Given the description of an element on the screen output the (x, y) to click on. 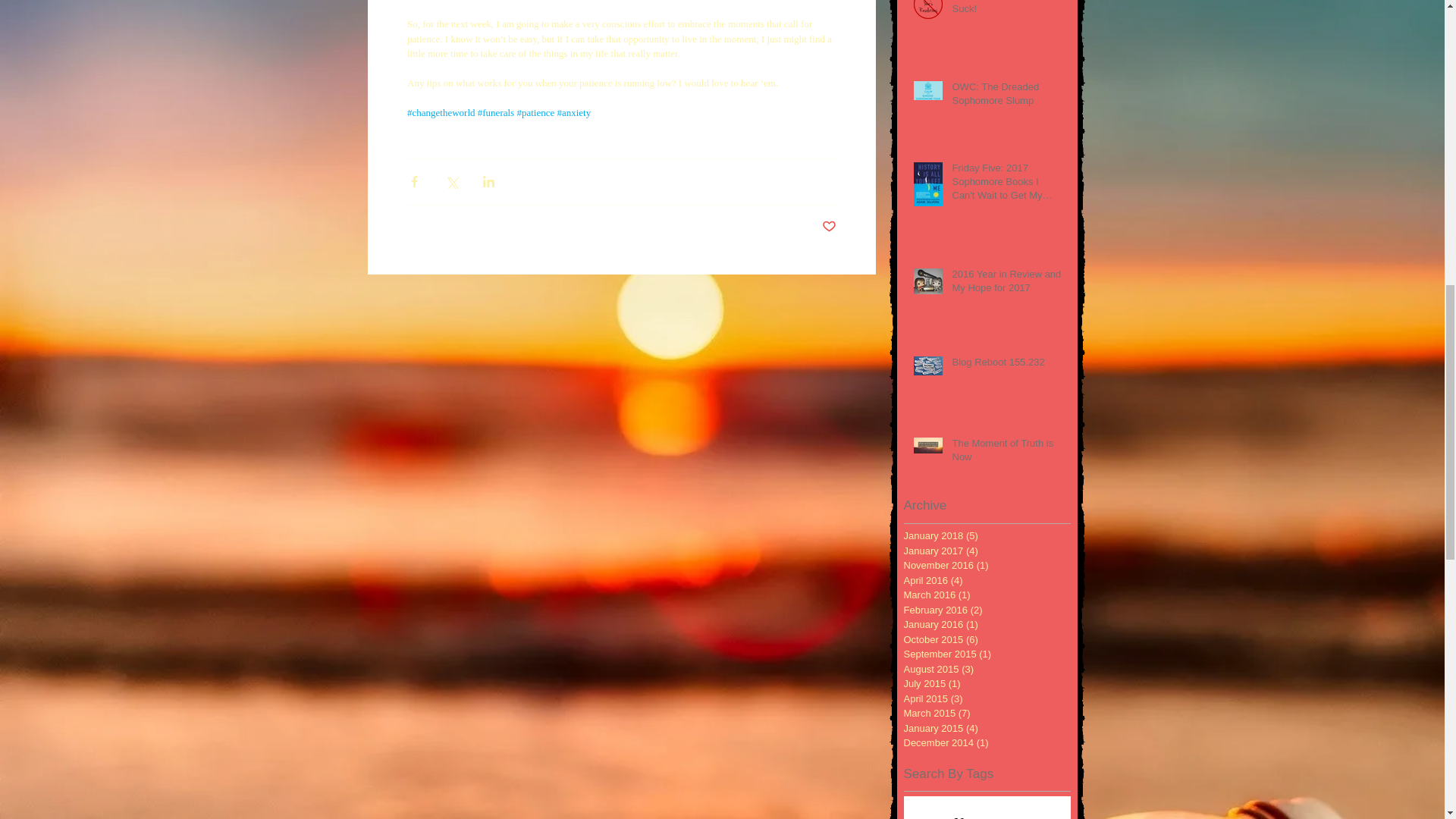
2016 Year in Review and My Hope for 2017 (1006, 284)
Blog Reboot 155.232 (1006, 365)
Post not marked as liked (828, 226)
OWC: The Dreaded Sophomore Slump (1006, 96)
New Years Resolutions Suck! (1006, 11)
The Moment of Truth is Now (1006, 453)
